Given the description of an element on the screen output the (x, y) to click on. 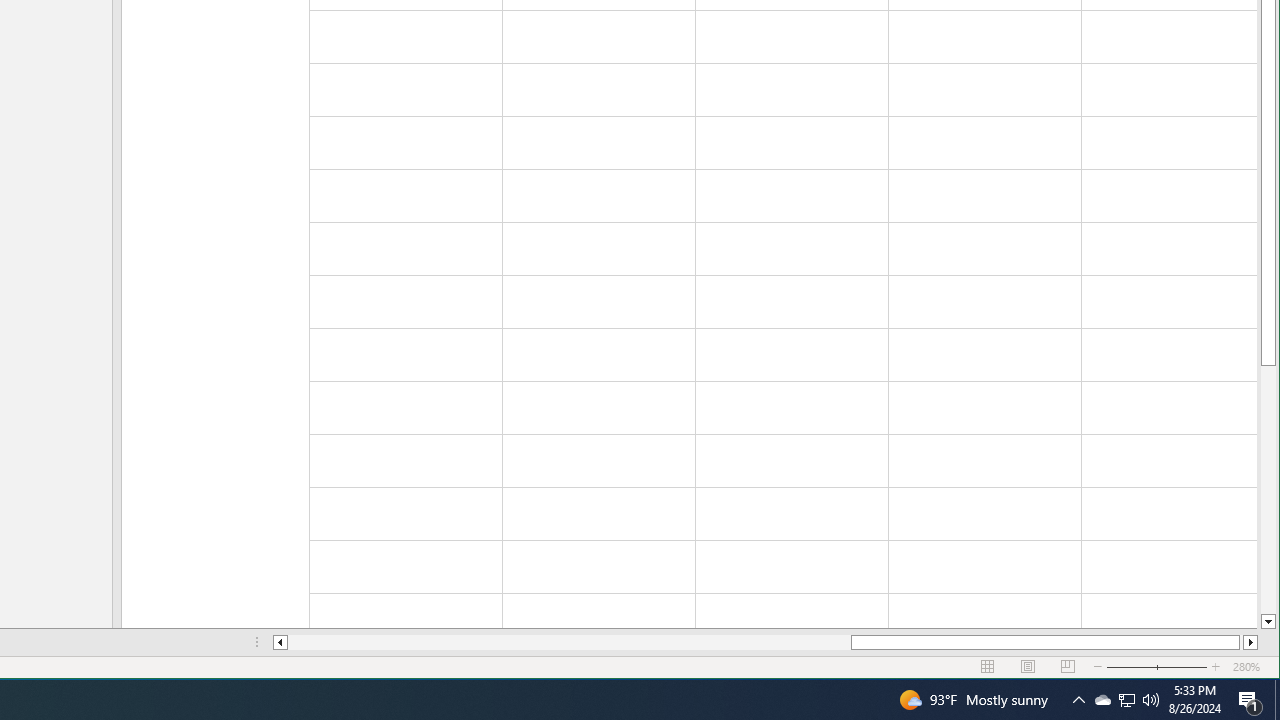
Page left (569, 642)
